Given the description of an element on the screen output the (x, y) to click on. 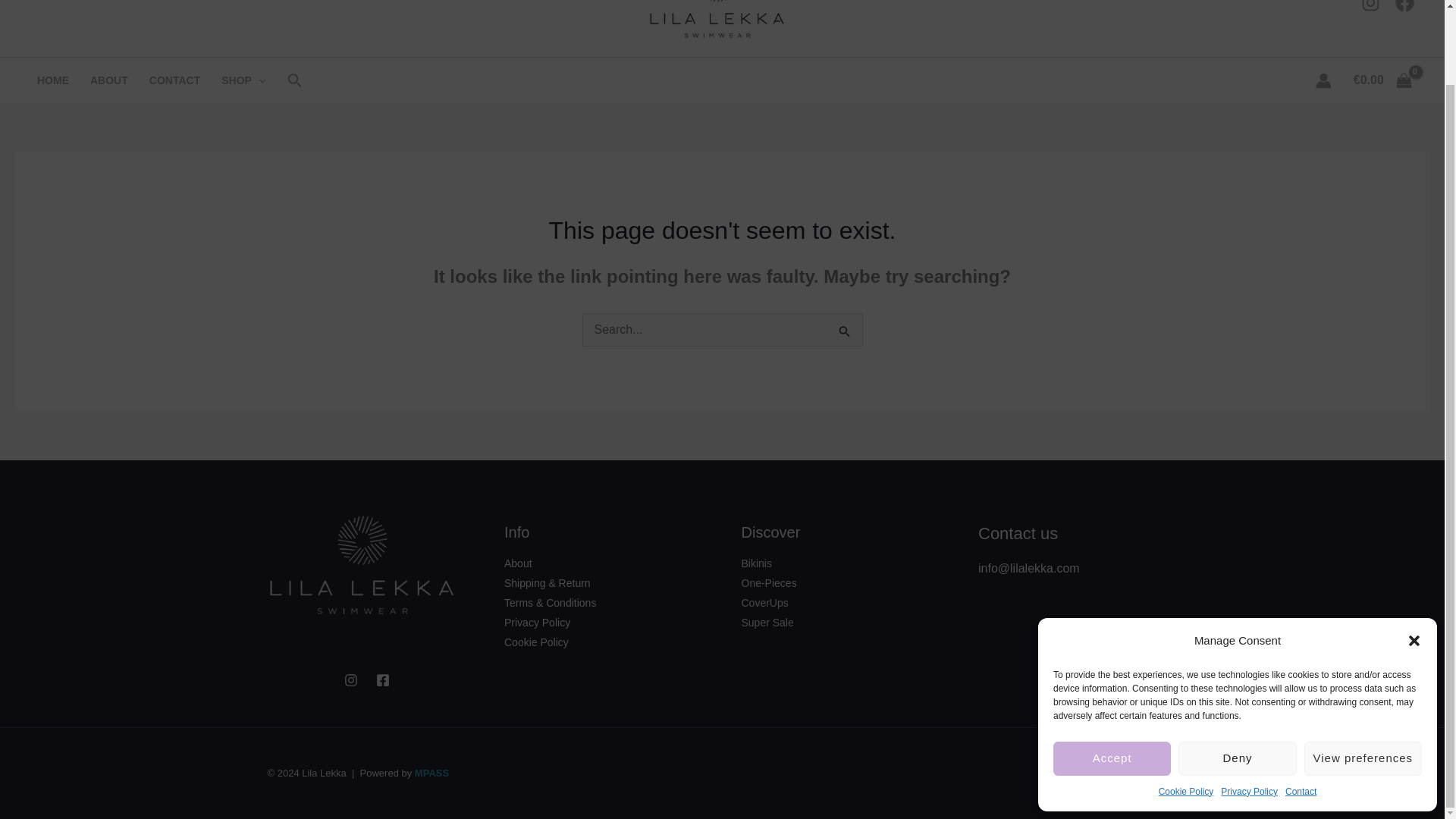
Search (844, 331)
View preferences (1363, 675)
Deny (1236, 675)
Contact (1300, 708)
Cookie Policy (1186, 708)
Search (844, 331)
Privacy Policy (1249, 708)
HOME (53, 80)
SHOP (243, 80)
Accept (1111, 675)
CONTACT (174, 80)
ABOUT (109, 80)
